Given the description of an element on the screen output the (x, y) to click on. 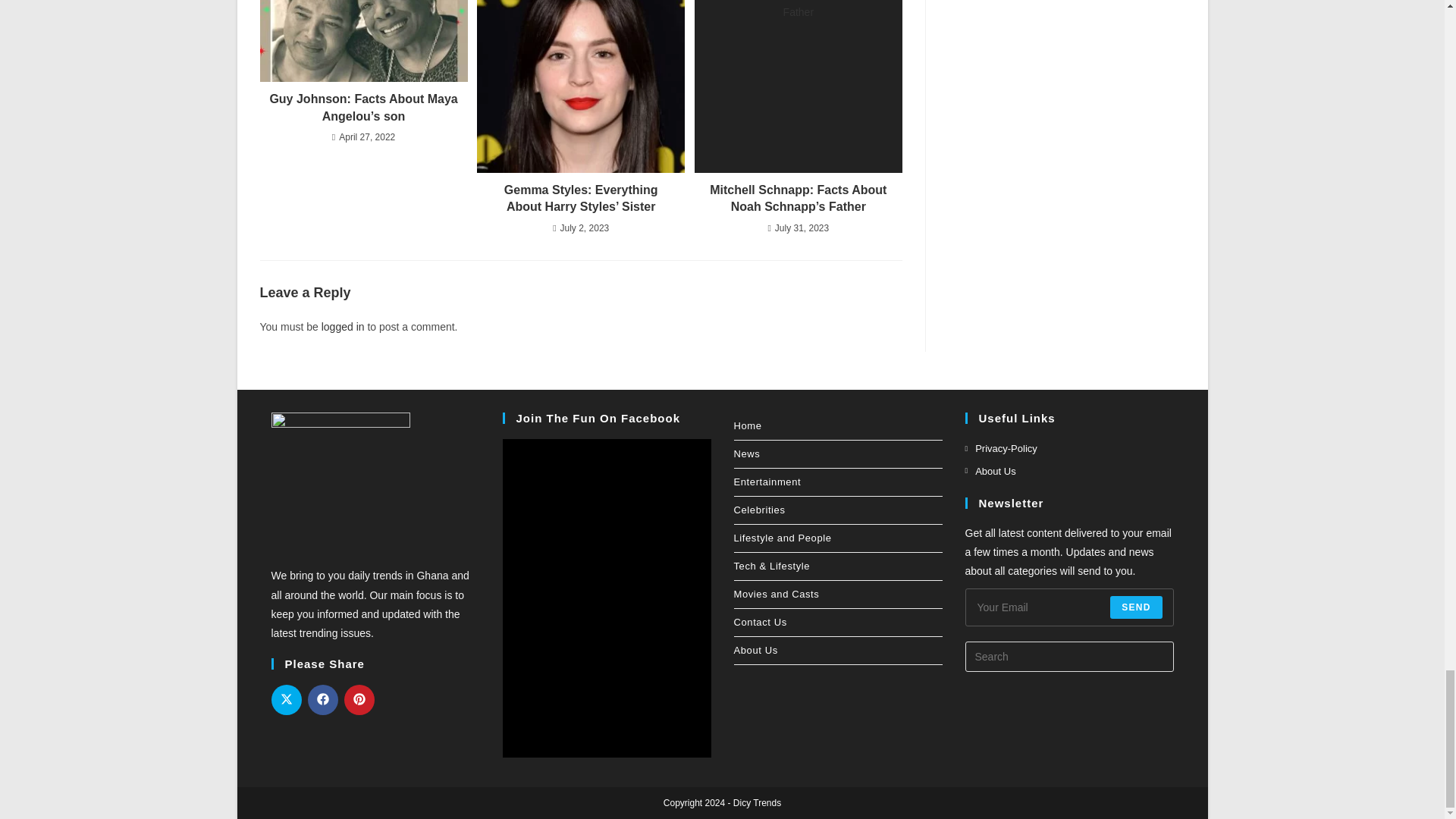
Share on X (285, 699)
Share on Pinterest (358, 699)
Share on Facebook (322, 699)
